Given the description of an element on the screen output the (x, y) to click on. 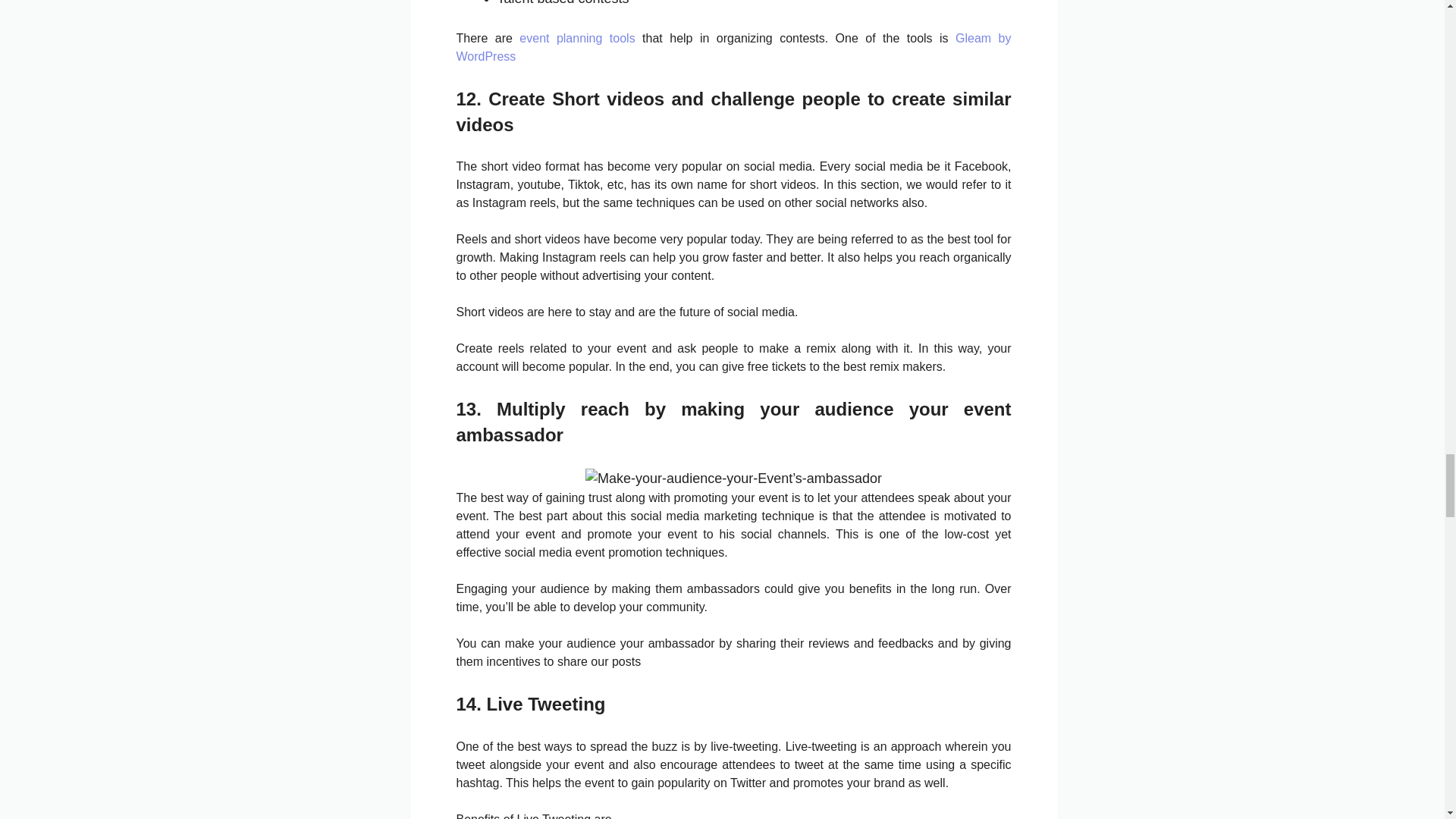
event planning tools (576, 38)
Gleam by WordPress (734, 47)
reference marketing for events (733, 478)
